Given the description of an element on the screen output the (x, y) to click on. 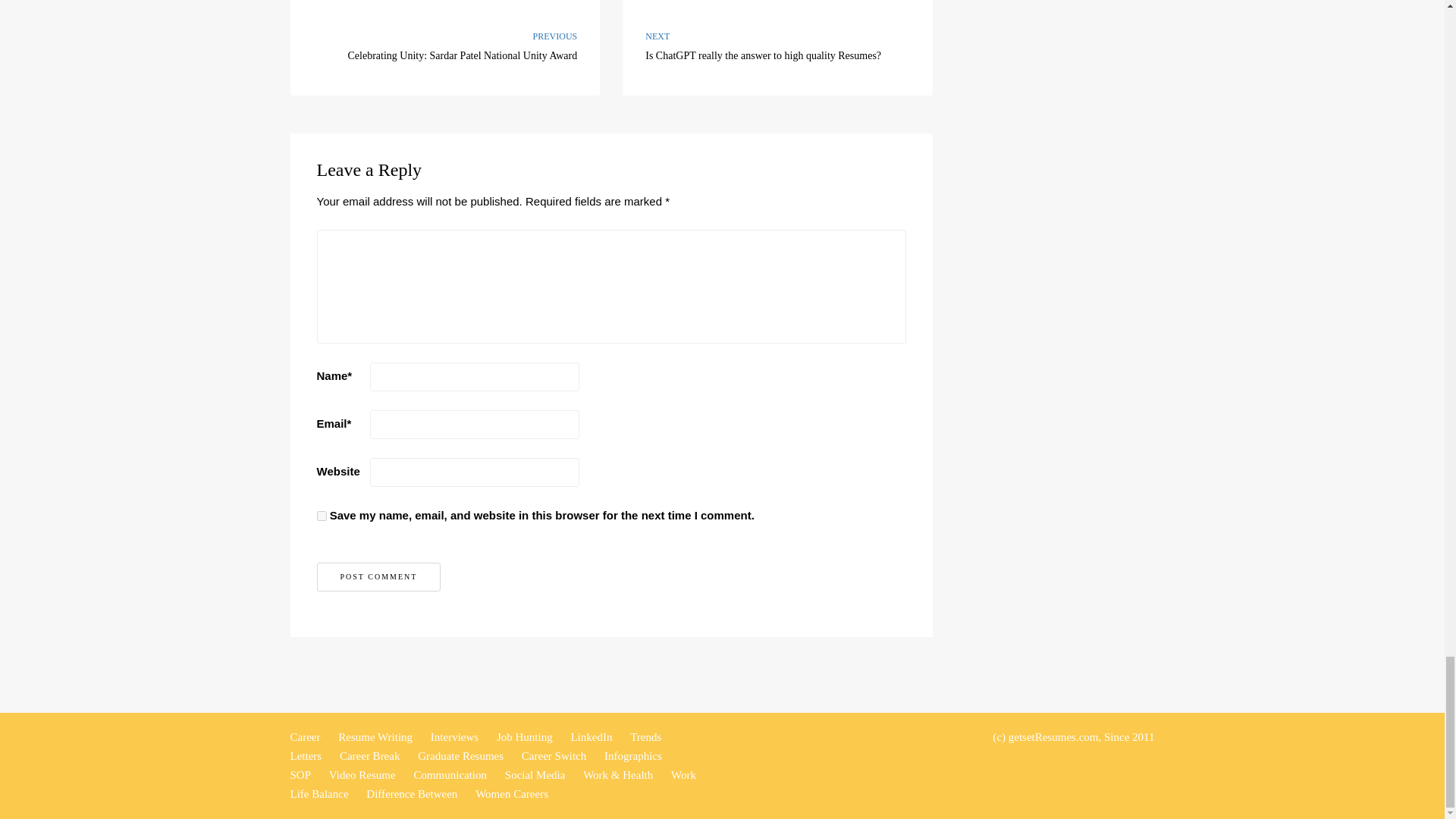
Post comment (379, 576)
Post comment (778, 47)
yes (379, 576)
